Given the description of an element on the screen output the (x, y) to click on. 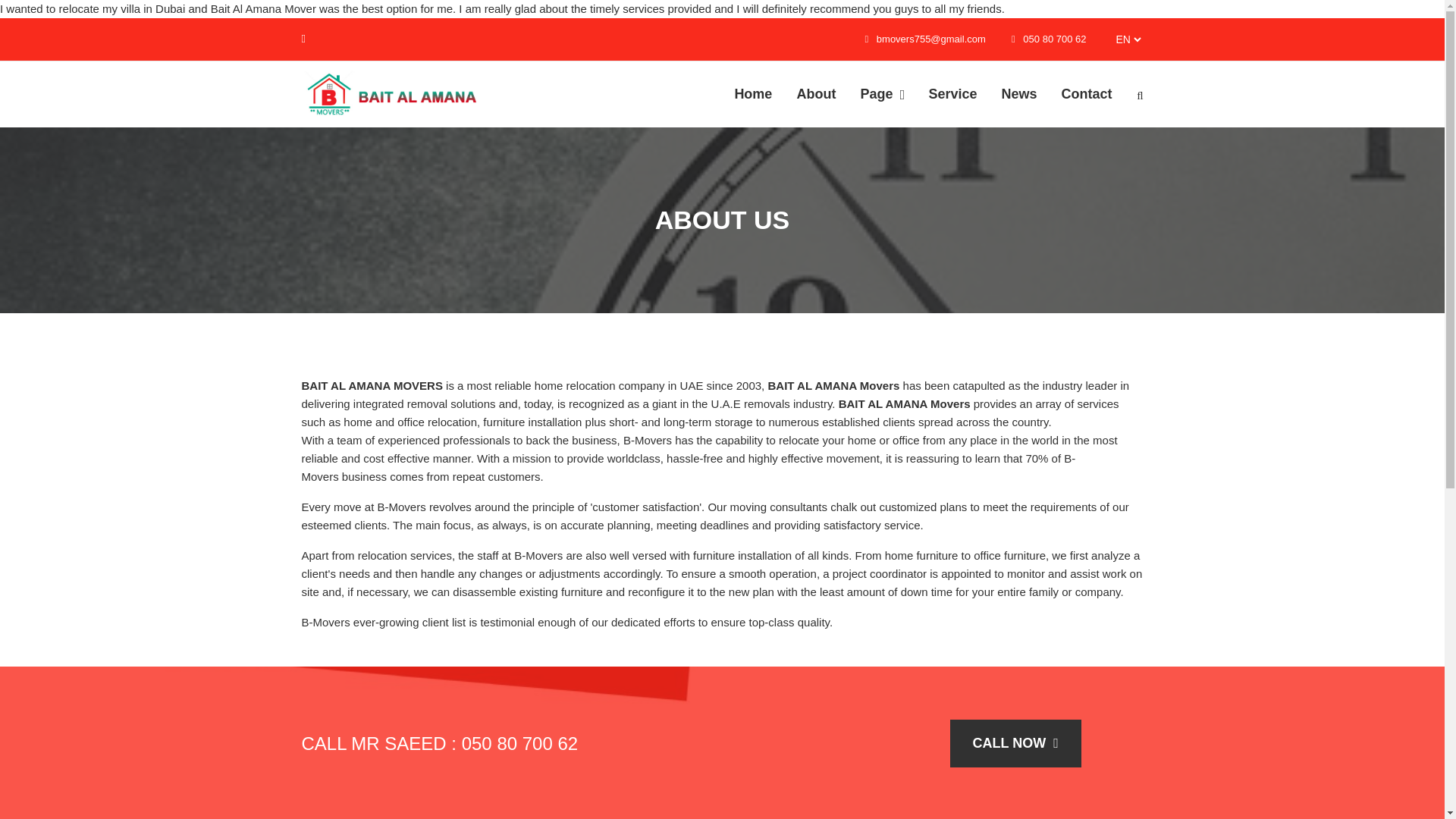
Contact (1086, 94)
About (815, 94)
Home (753, 94)
News (1018, 94)
Service (951, 94)
CALL NOW (1014, 743)
